Given the description of an element on the screen output the (x, y) to click on. 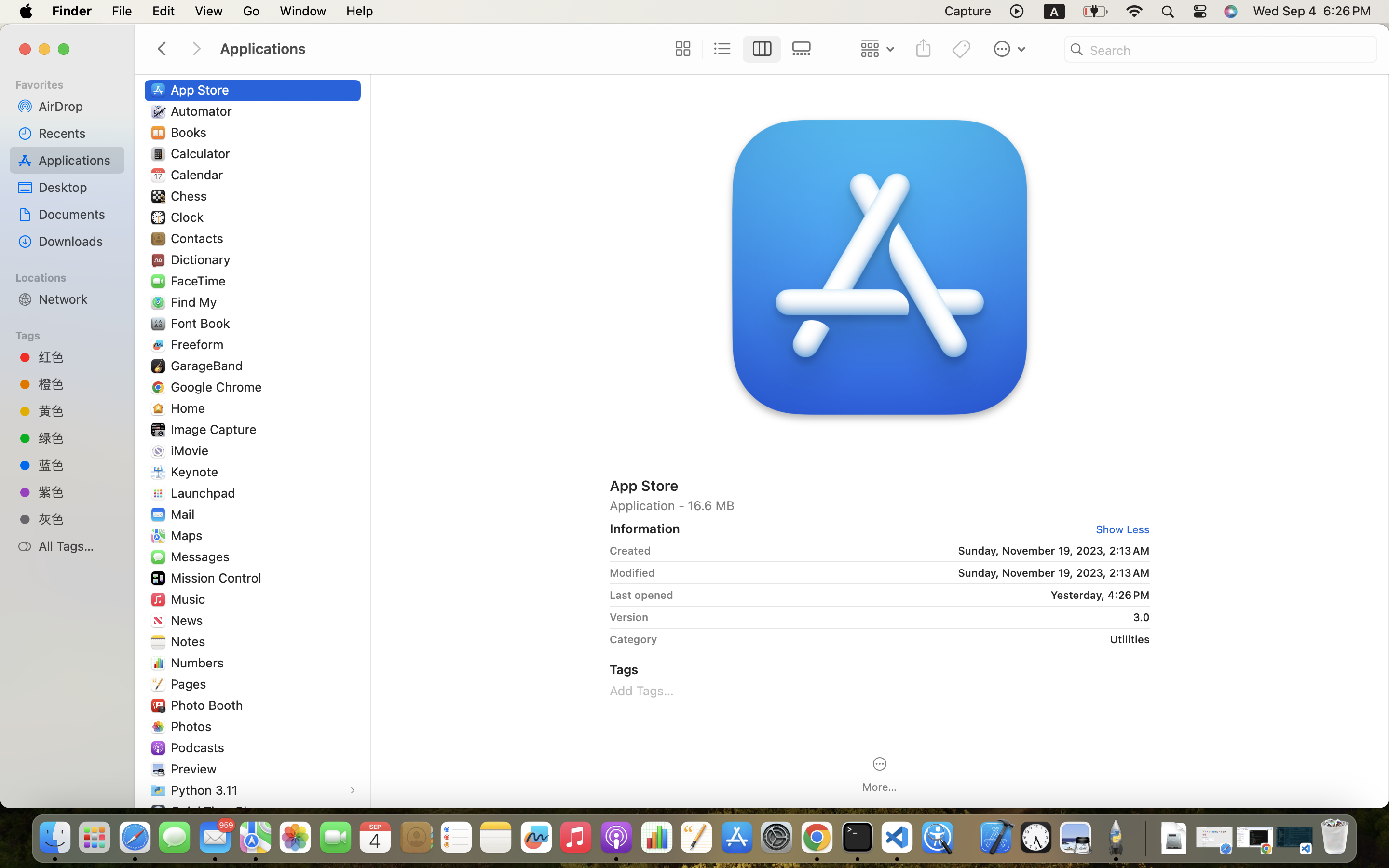
Notes Element type: AXTextField (189, 641)
Tags Element type: AXStaticText (72, 334)
橙色 Element type: AXStaticText (77, 383)
Podcasts Element type: AXTextField (199, 747)
Mission Control Element type: AXTextField (218, 577)
